Given the description of an element on the screen output the (x, y) to click on. 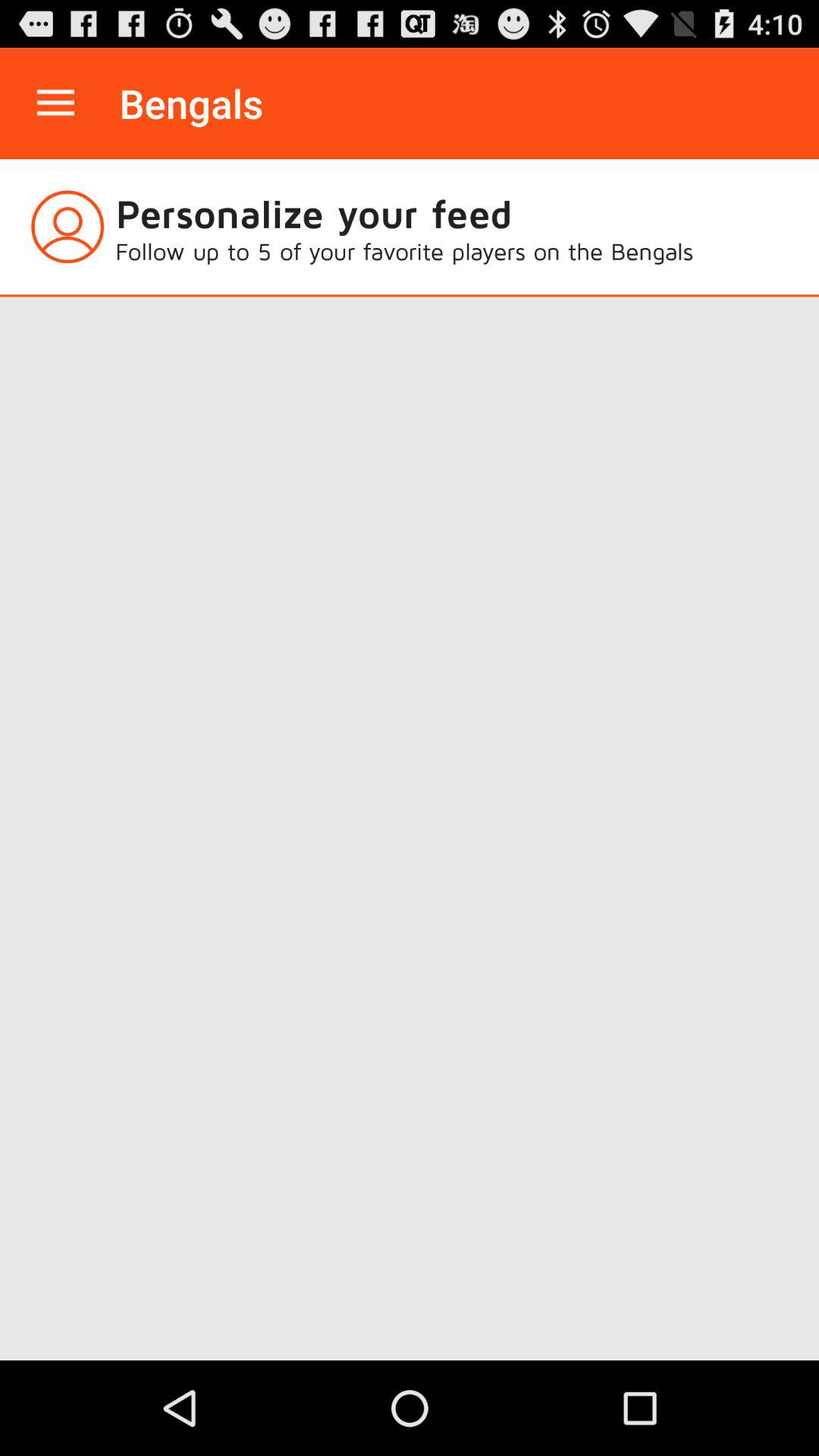
tap the item next to bengals (55, 103)
